Given the description of an element on the screen output the (x, y) to click on. 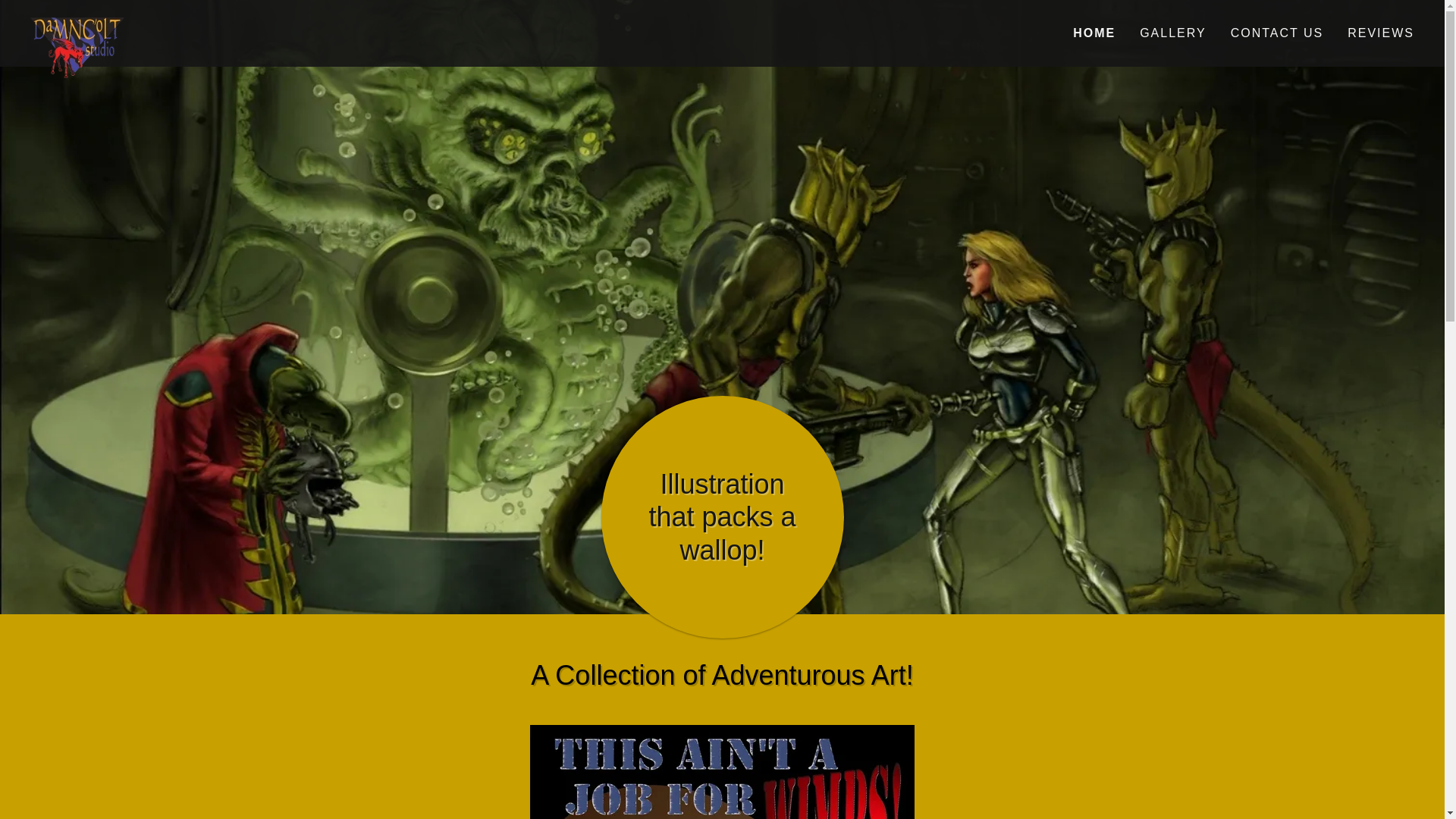
GALLERY (1173, 32)
REVIEWS (1380, 32)
Damncolt Studio (202, 24)
CONTACT US (1276, 32)
HOME (1094, 33)
